Given the description of an element on the screen output the (x, y) to click on. 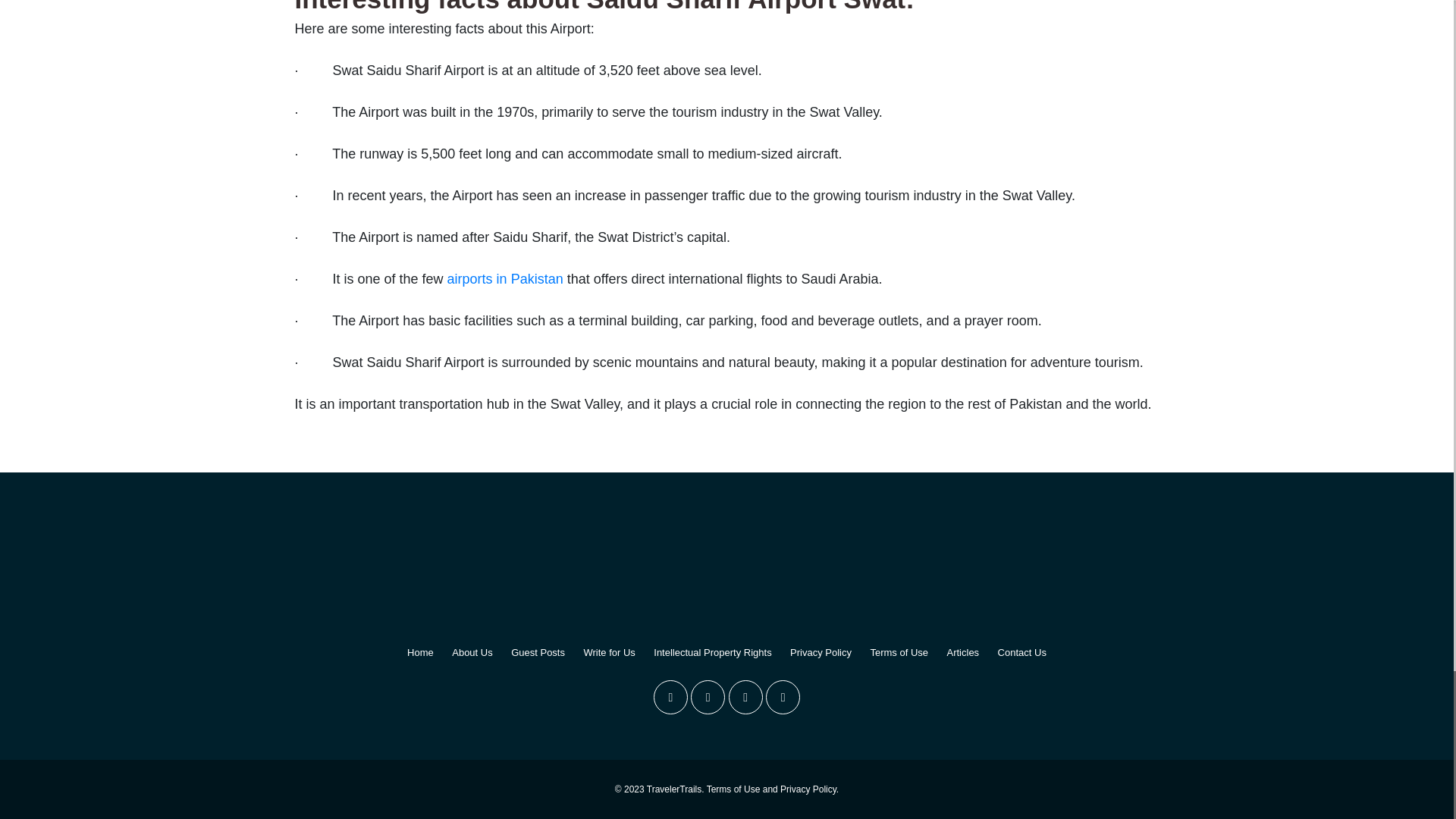
Guest Posts (537, 652)
Home (420, 652)
Terms of Use (898, 652)
Write for Us (608, 652)
Privacy Policy (820, 652)
Intellectual Property Rights (712, 652)
airports in Pakistan (504, 278)
About Us (471, 652)
Contact Us (1021, 652)
Articles (962, 652)
